Given the description of an element on the screen output the (x, y) to click on. 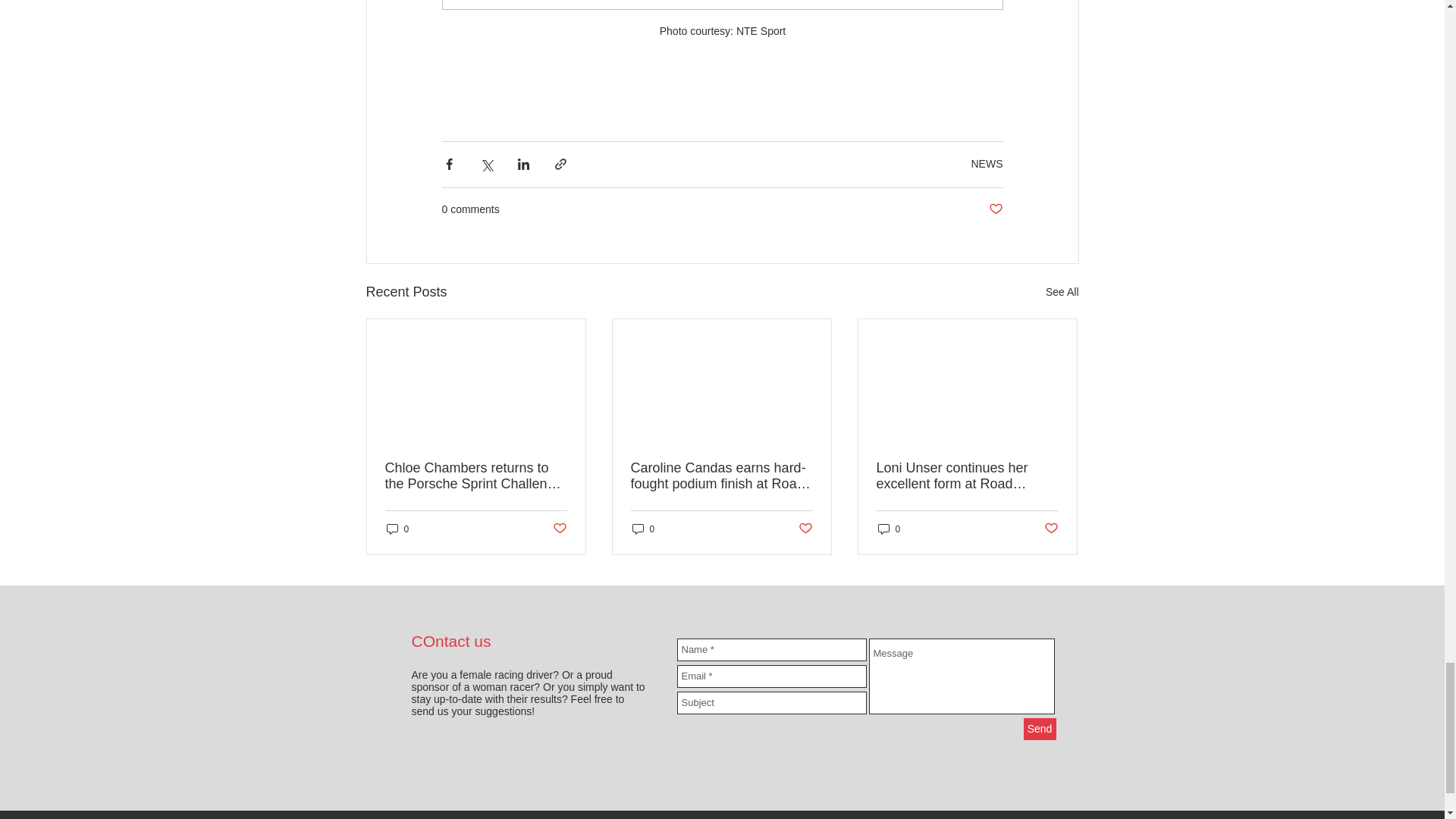
Send (1040, 729)
See All (1061, 292)
Post not marked as liked (995, 209)
Post not marked as liked (1050, 528)
Post not marked as liked (804, 528)
0 (643, 528)
NEWS (987, 163)
0 (397, 528)
